Given the description of an element on the screen output the (x, y) to click on. 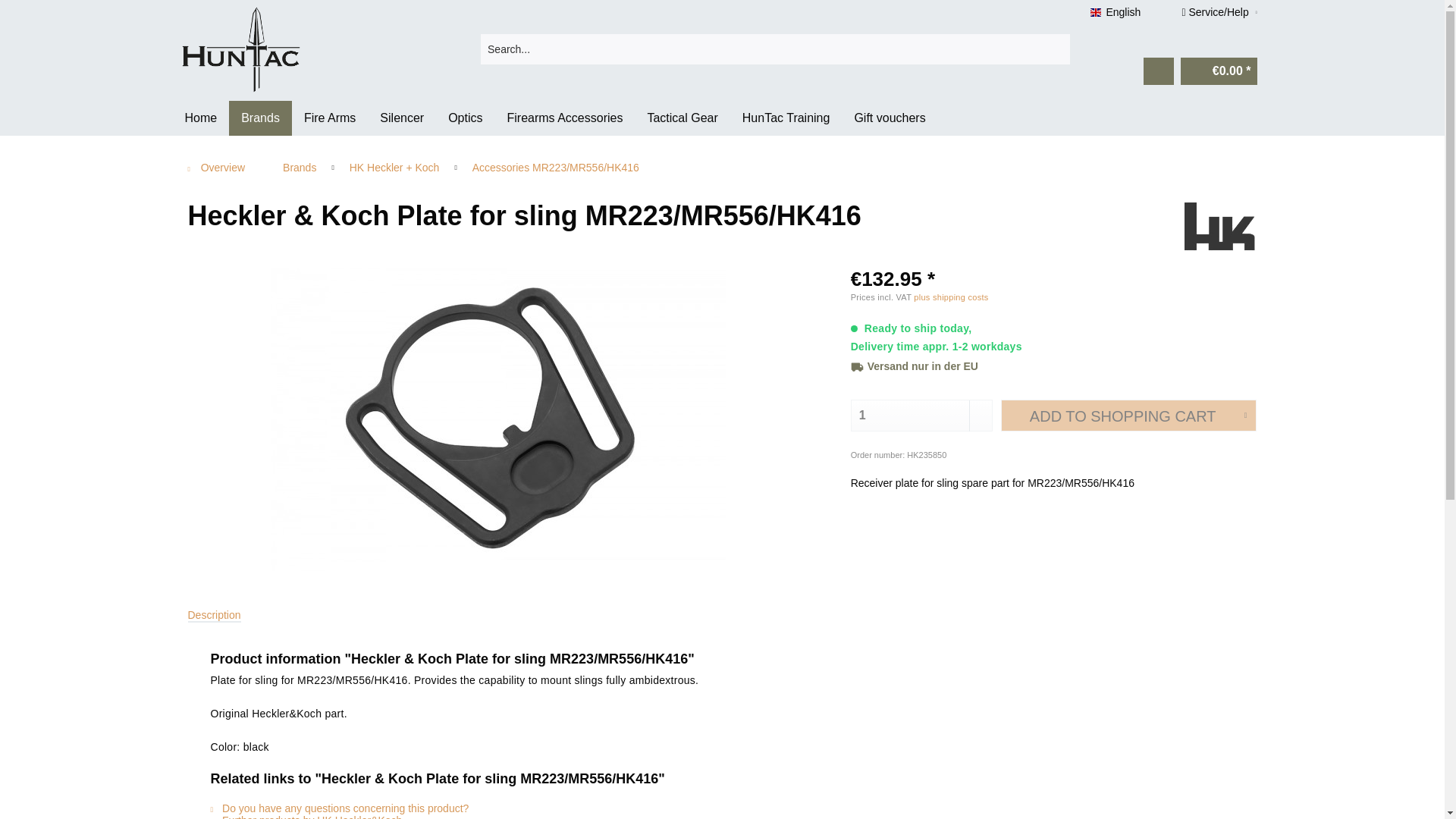
Optics (465, 117)
Shopping cart (1218, 71)
Brands (260, 117)
Home (201, 117)
Gift vouchers (889, 117)
HunTac Training (786, 117)
My account (1157, 71)
Fire Arms (330, 117)
Silencer (401, 117)
Tactical Gear (681, 117)
